Given the description of an element on the screen output the (x, y) to click on. 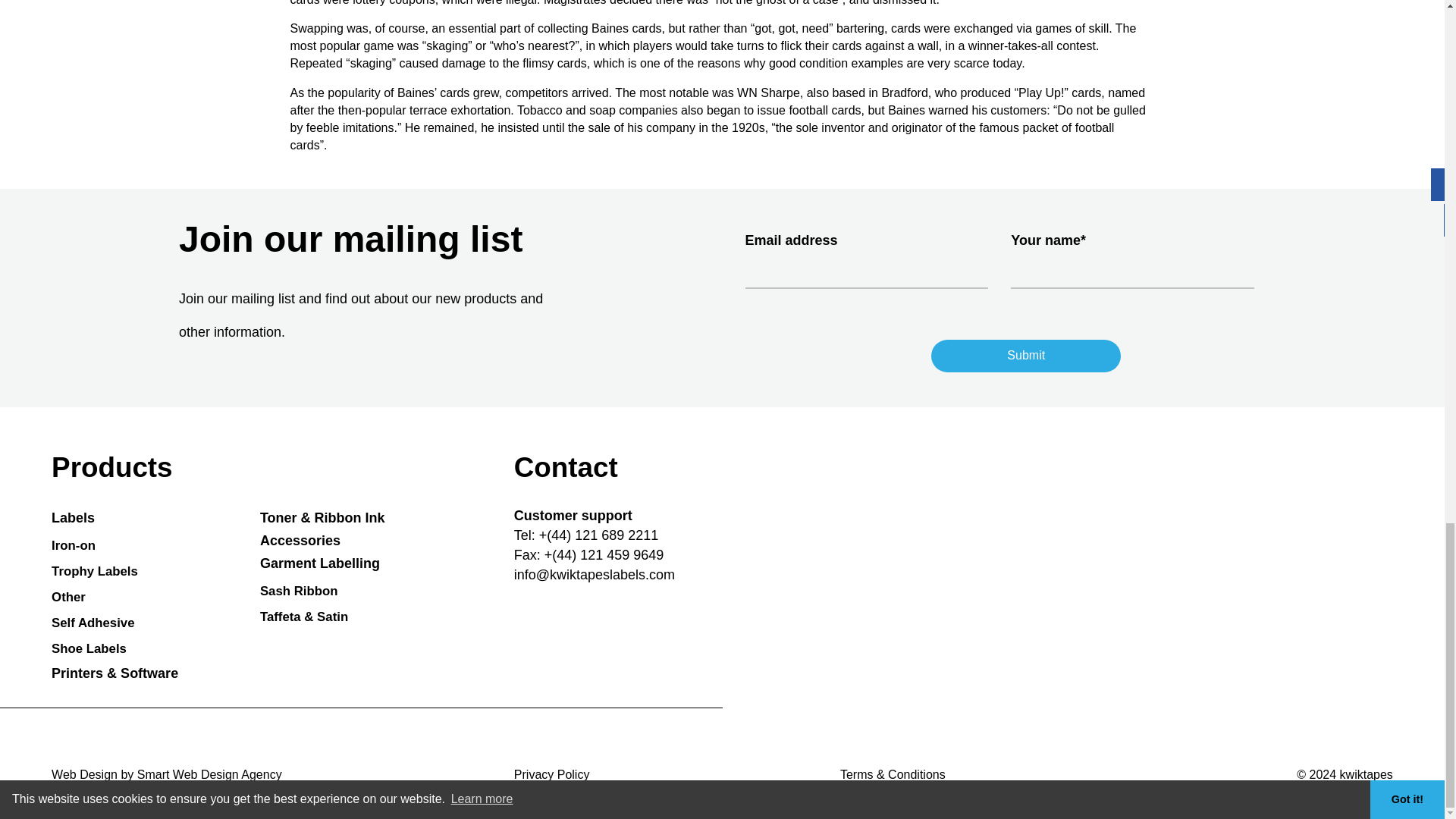
Trophy Labels (111, 571)
Submit (1026, 355)
Other (111, 597)
Labels (113, 517)
Submit (1026, 355)
Shoe Labels (111, 648)
Self Adhesive (111, 623)
Iron-on (111, 545)
Accessories (322, 540)
